Given the description of an element on the screen output the (x, y) to click on. 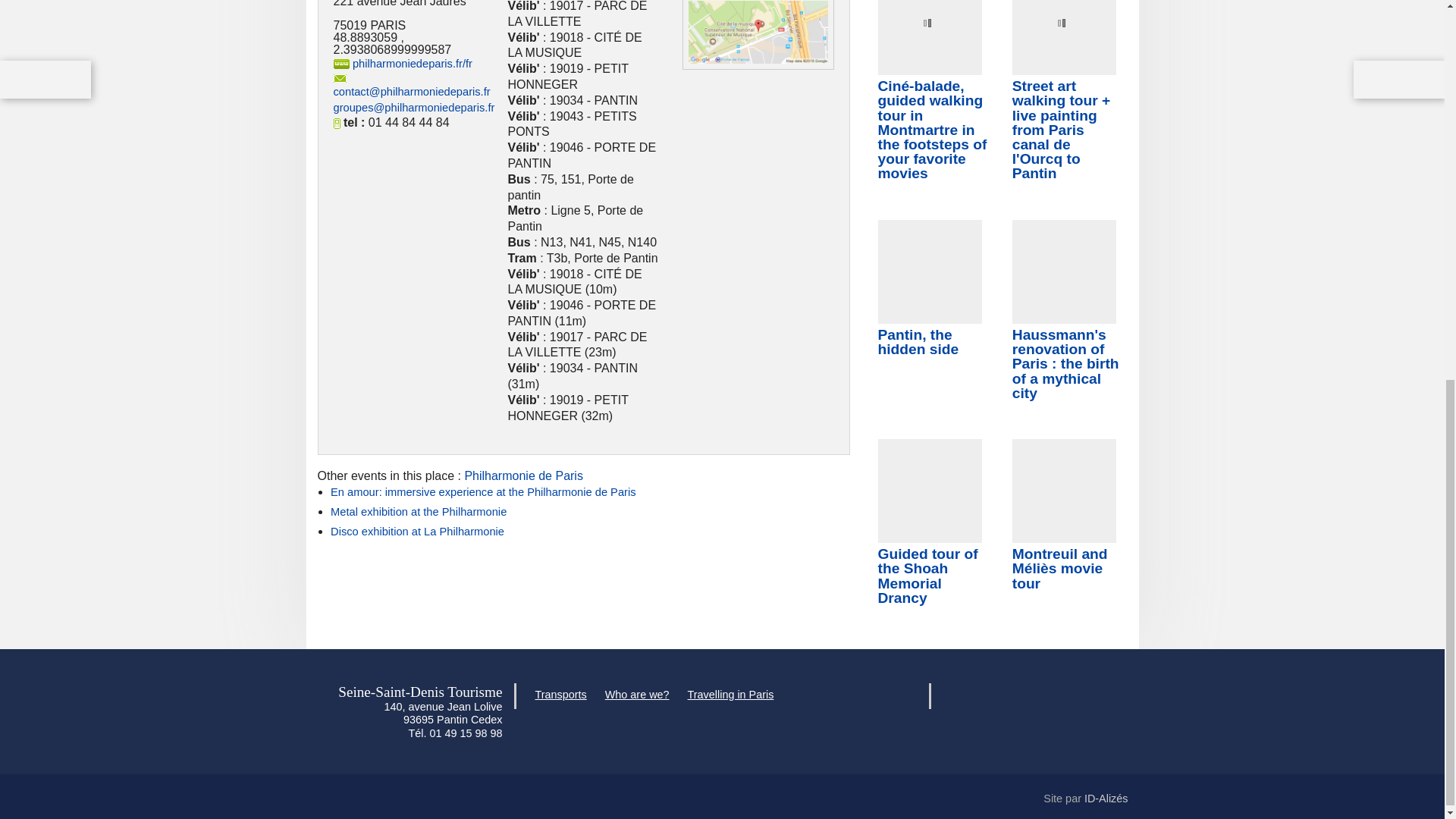
48.8893059 (365, 37)
2.3938068999999587 (392, 49)
